Given the description of an element on the screen output the (x, y) to click on. 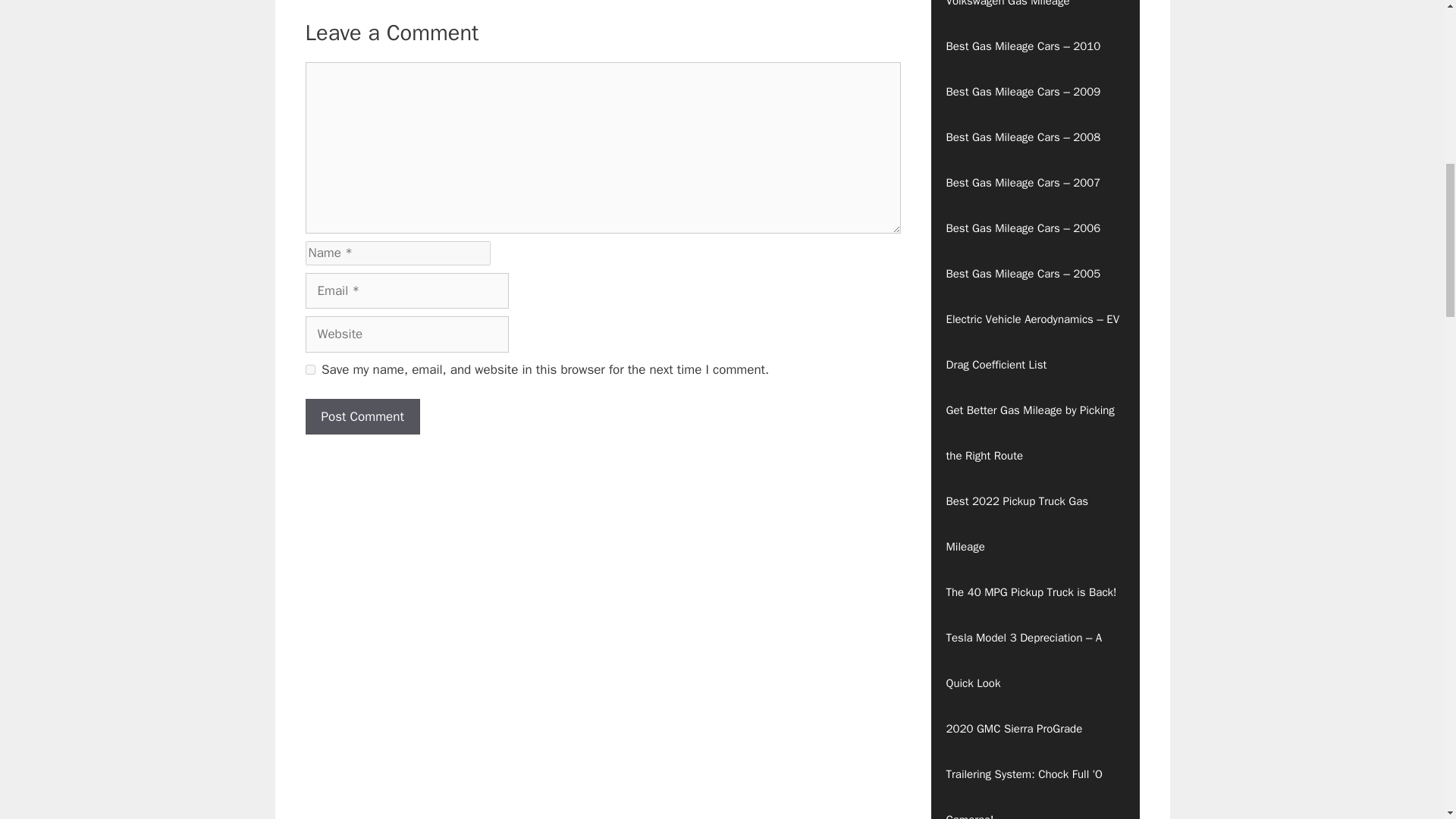
Post Comment (361, 416)
yes (309, 369)
Post Comment (361, 416)
